Given the description of an element on the screen output the (x, y) to click on. 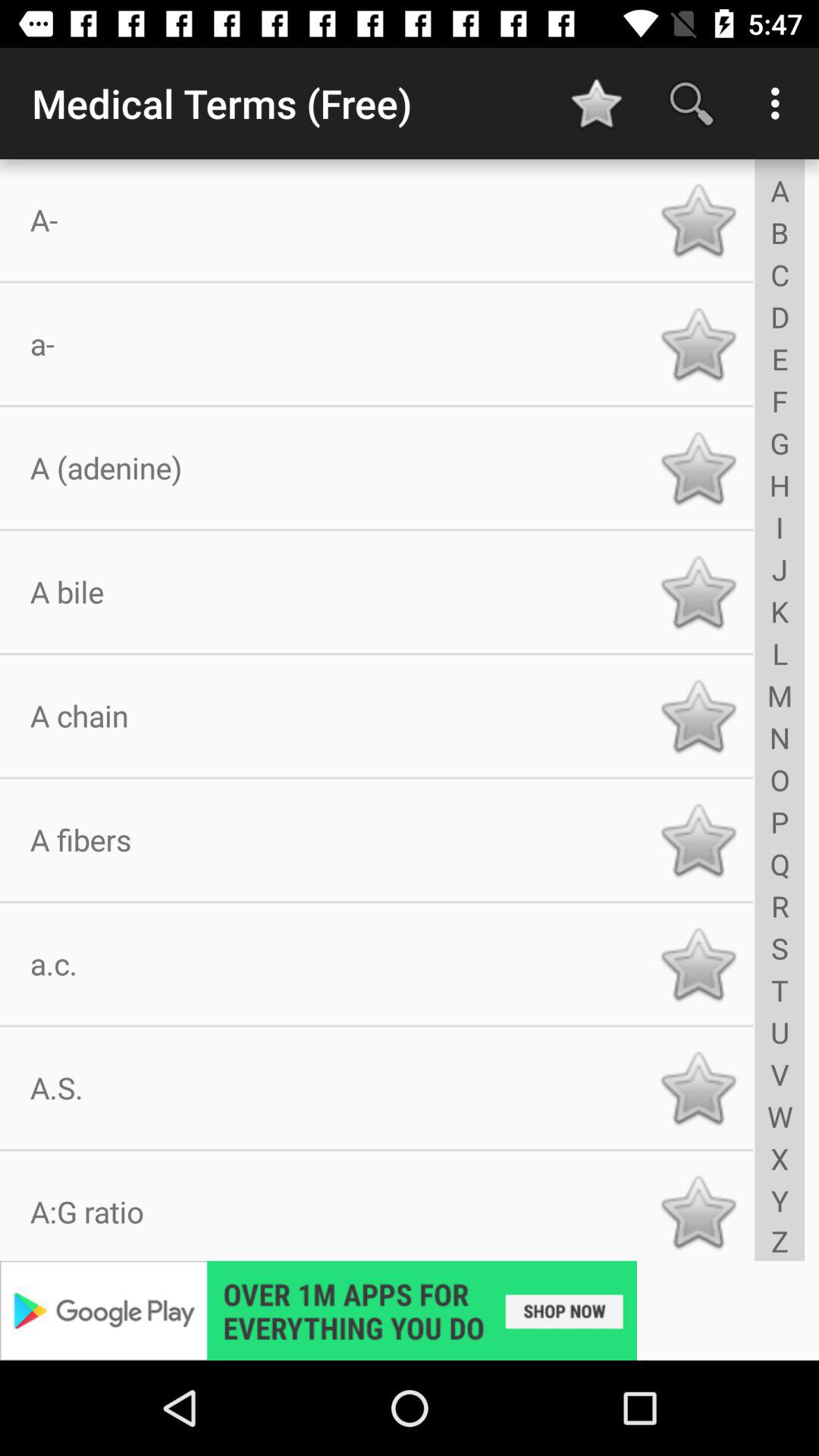
add to favorite (697, 963)
